Given the description of an element on the screen output the (x, y) to click on. 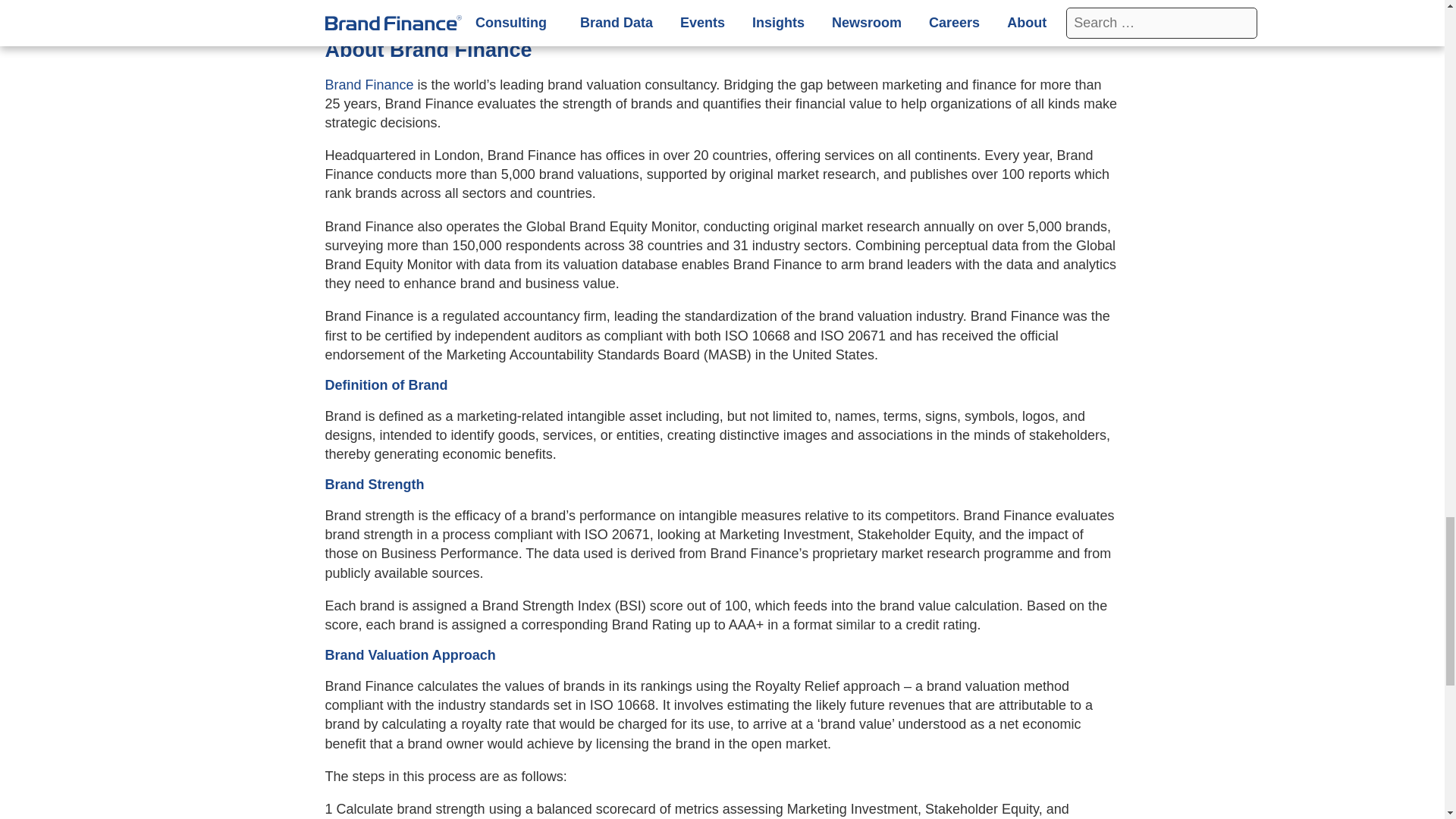
Brand Finance (368, 84)
Twitter (373, 12)
Facebook (406, 12)
Instagram (441, 12)
LinkedIn (338, 12)
